Given the description of an element on the screen output the (x, y) to click on. 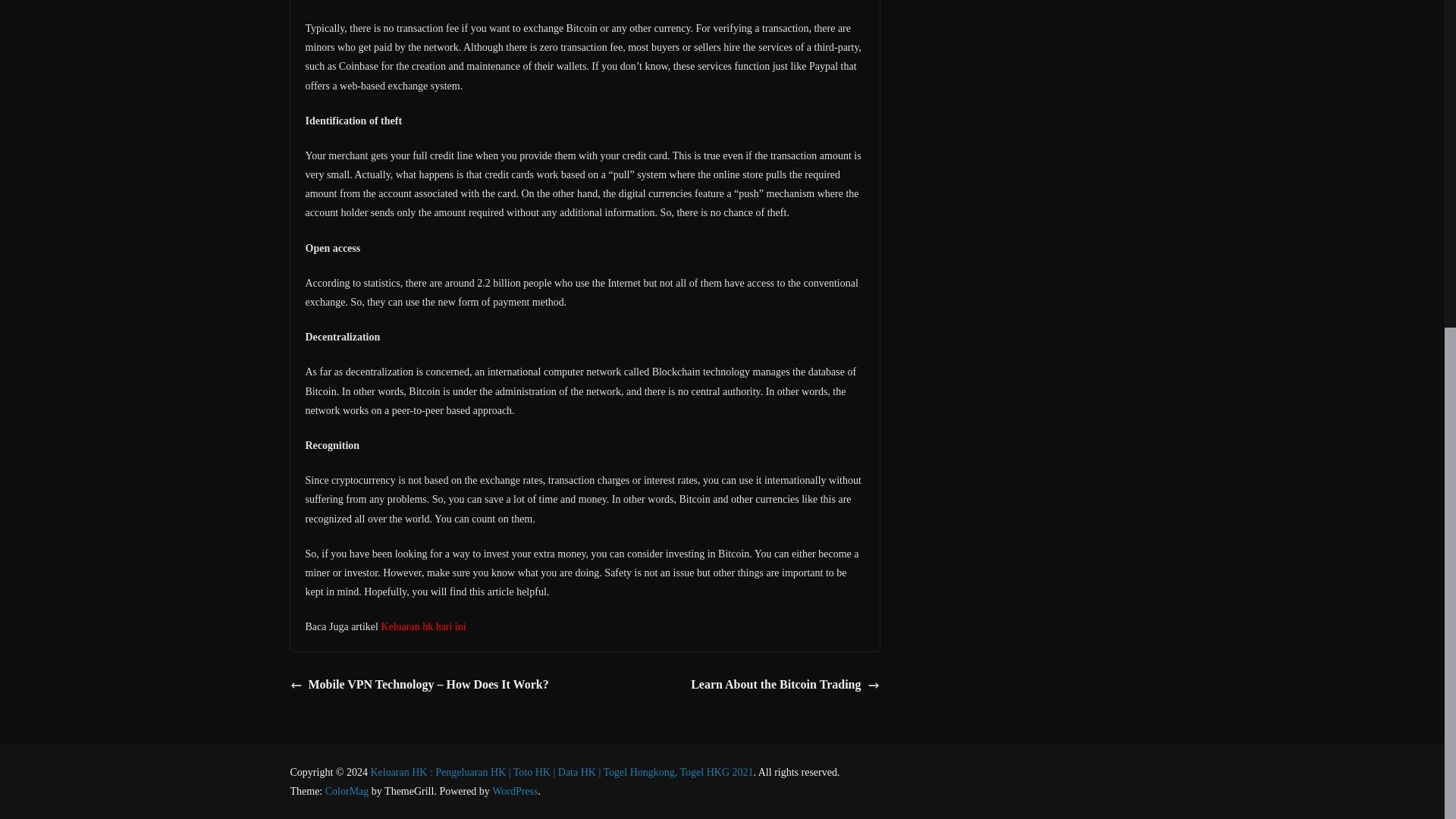
Keluaran hk hari ini (422, 626)
ColorMag (346, 790)
ColorMag (346, 790)
WordPress (514, 790)
Learn About the Bitcoin Trading (784, 685)
WordPress (514, 790)
